Given the description of an element on the screen output the (x, y) to click on. 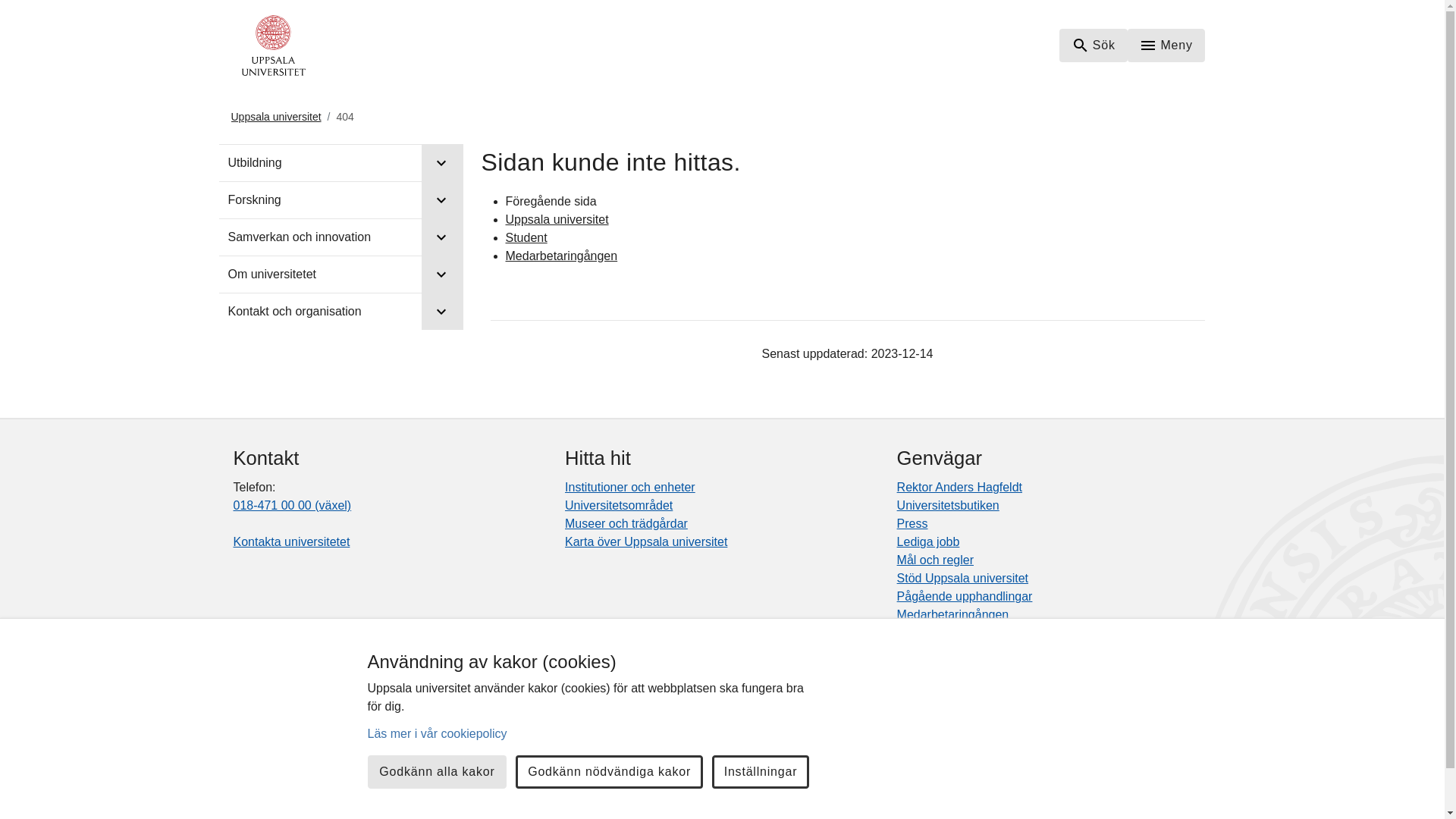
Meny (1165, 45)
